Given the description of an element on the screen output the (x, y) to click on. 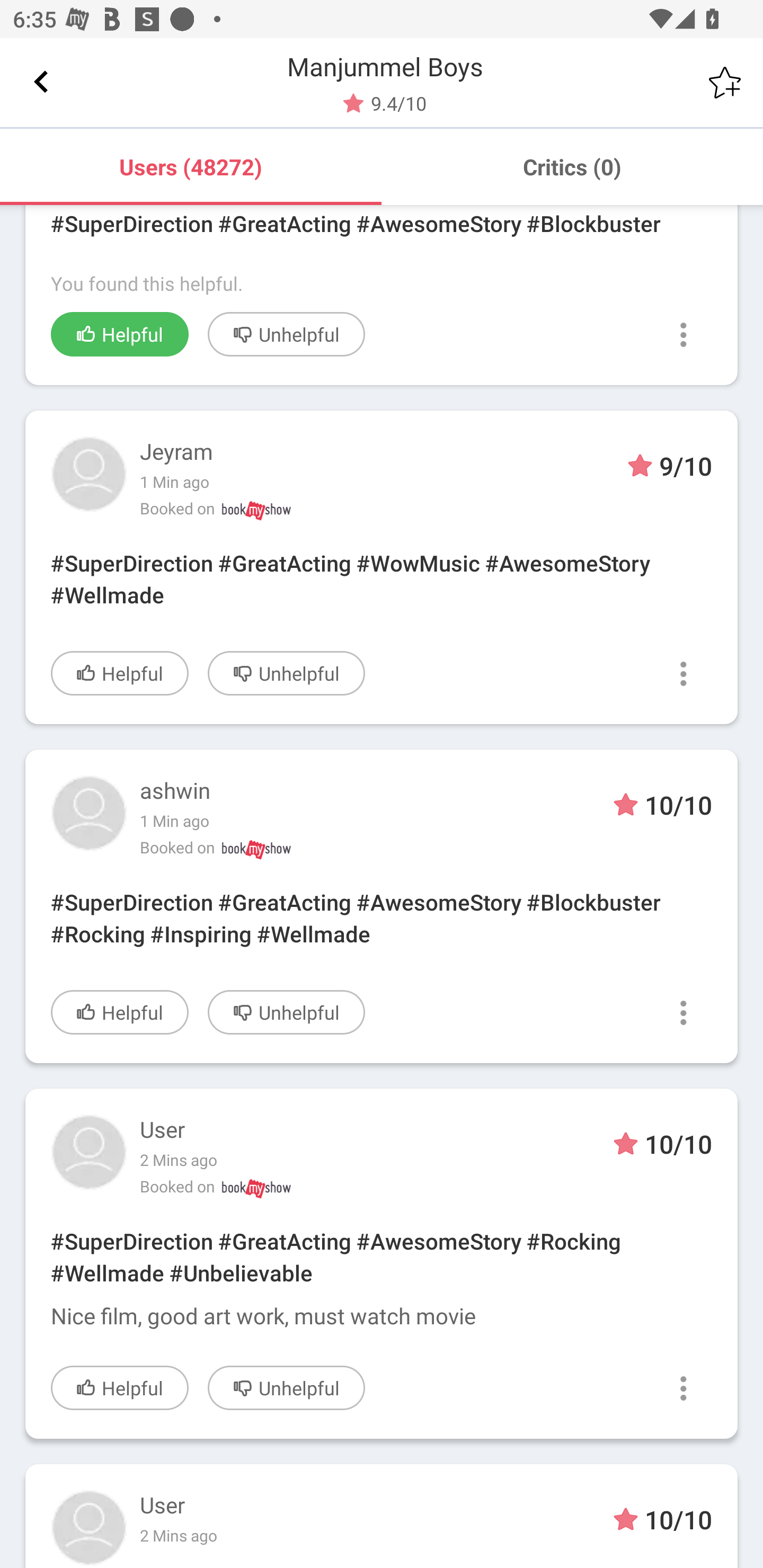
Back (41, 82)
Critics (0) (572, 166)
Helpful (119, 333)
Unhelpful (285, 333)
Helpful (119, 673)
Unhelpful (285, 673)
Helpful (119, 1011)
Unhelpful (285, 1011)
Helpful (119, 1387)
Unhelpful (285, 1387)
